Given the description of an element on the screen output the (x, y) to click on. 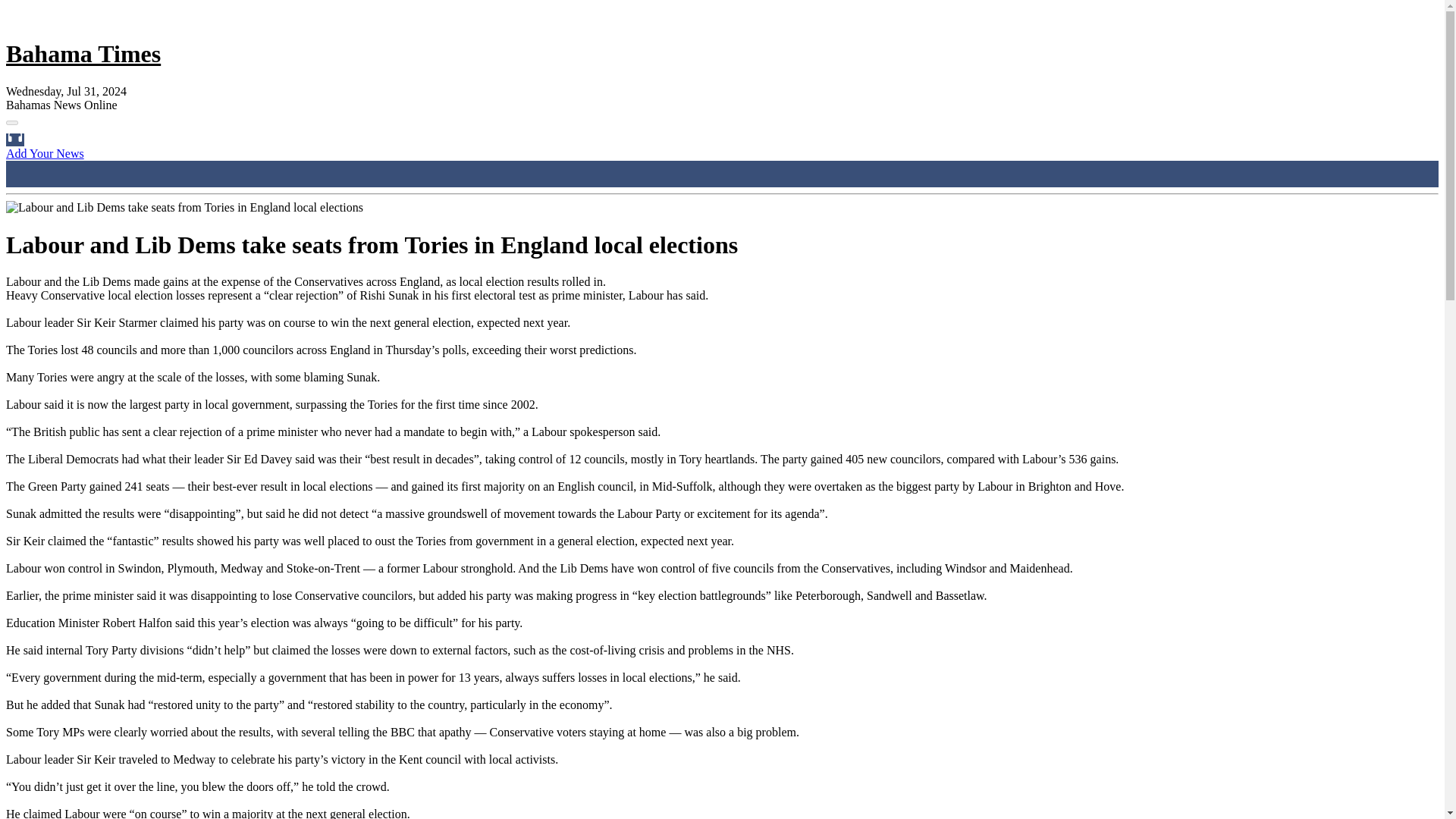
Add Your News (44, 153)
Bahama Times (82, 53)
